Given the description of an element on the screen output the (x, y) to click on. 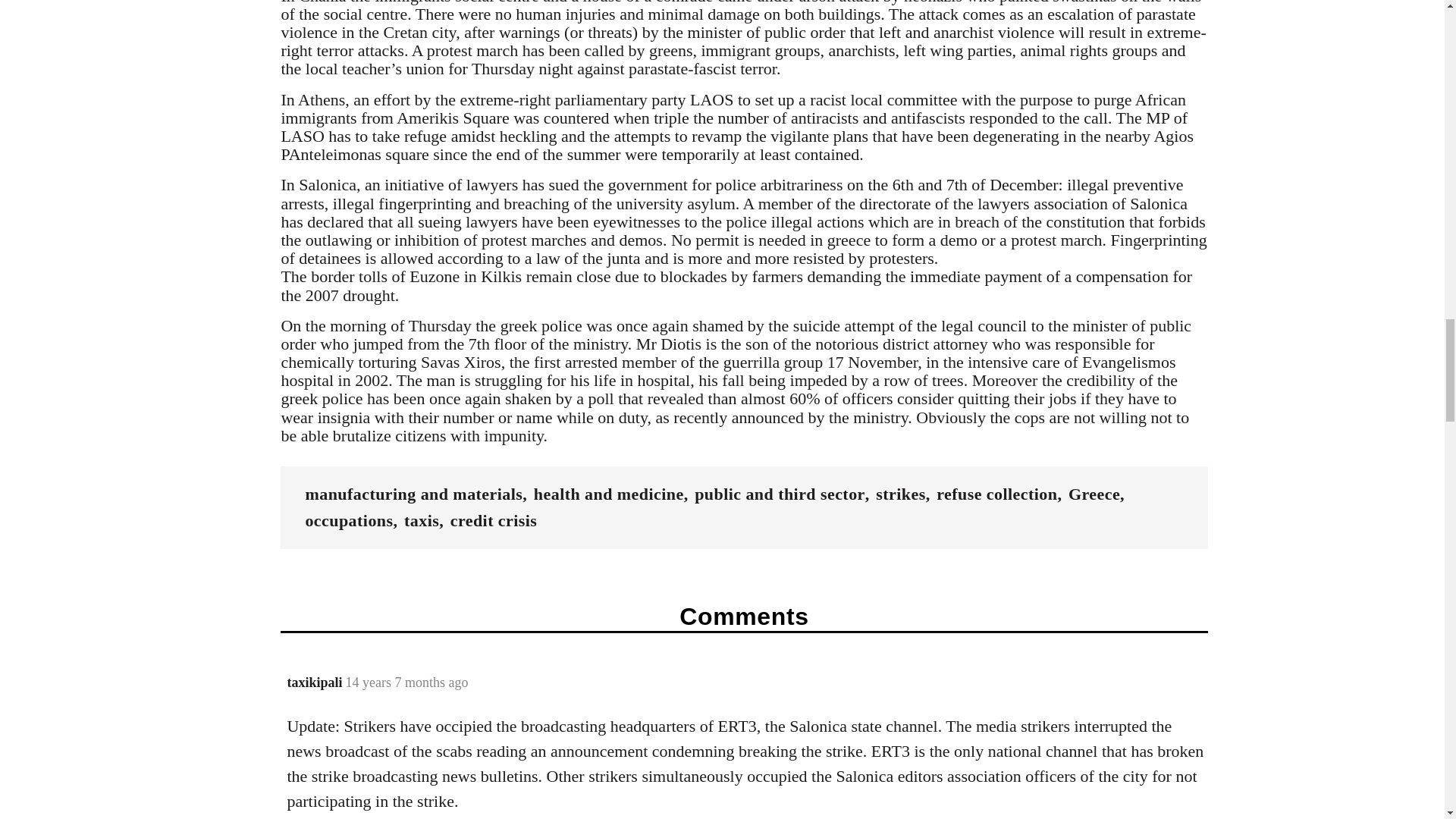
credit crisis (493, 520)
refuse collection (996, 494)
strikes (900, 494)
manufacturing and materials (413, 494)
Greece (1093, 494)
health and medicine (609, 494)
occupations (348, 520)
public and third sector (779, 494)
taxis (421, 520)
